Given the description of an element on the screen output the (x, y) to click on. 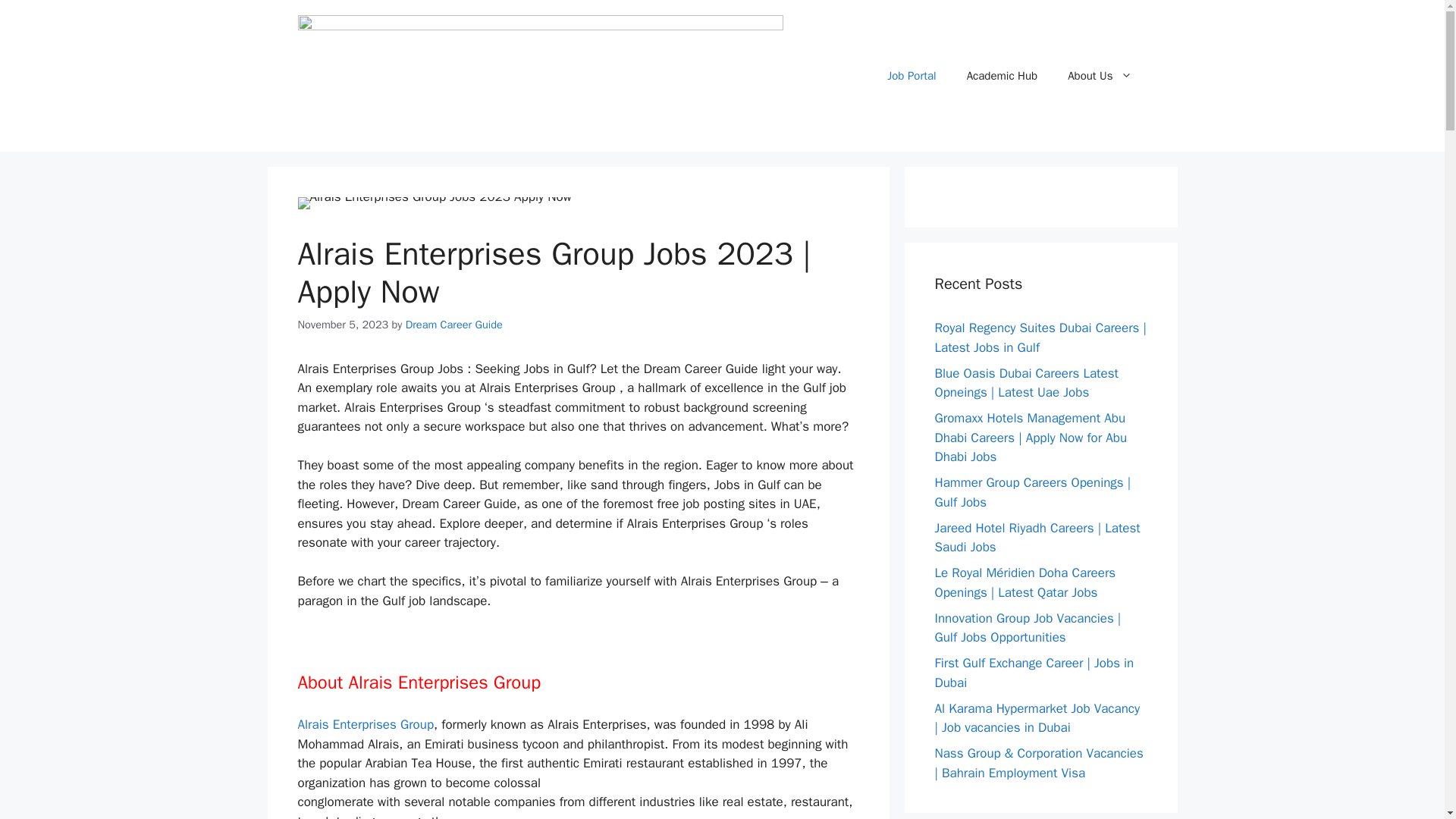
View all posts by Dream Career Guide (454, 324)
Alrais Enterprises Group (365, 724)
Job Portal (911, 75)
Academic Hub (1002, 75)
About Us (1099, 75)
Dream Career Guide (454, 324)
